Given the description of an element on the screen output the (x, y) to click on. 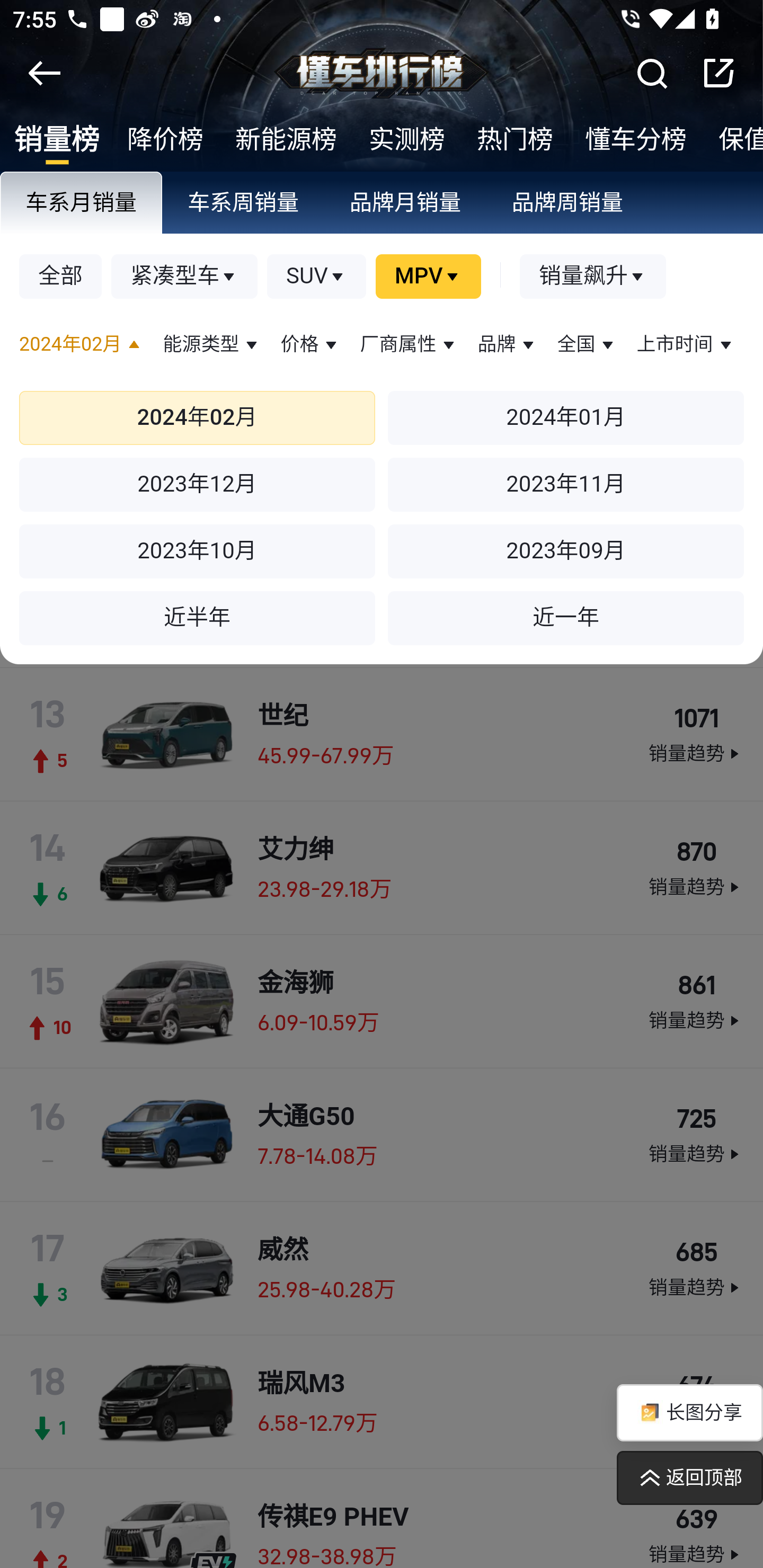
车系月销量 (81, 204)
车系周销量 (243, 204)
品牌月销量 (405, 204)
品牌周销量 (567, 204)
全部 (61, 277)
紧凑型车 (185, 277)
SUV (317, 277)
MPV (428, 277)
销量飙升 (593, 277)
2024年02月 (81, 345)
能源类型 (211, 345)
价格 (310, 345)
厂商属性 (409, 345)
品牌 (507, 345)
全国 (587, 345)
上市时间 (685, 345)
2024年02月  (197, 418)
2024年01月  (565, 418)
2023年12月  (197, 484)
2023年11月  (565, 484)
2023年10月  (197, 551)
2023年09月  (565, 551)
近半年  (197, 618)
近一年  (565, 618)
长图分享 (688, 1413)
返回顶部 (688, 1478)
